Given the description of an element on the screen output the (x, y) to click on. 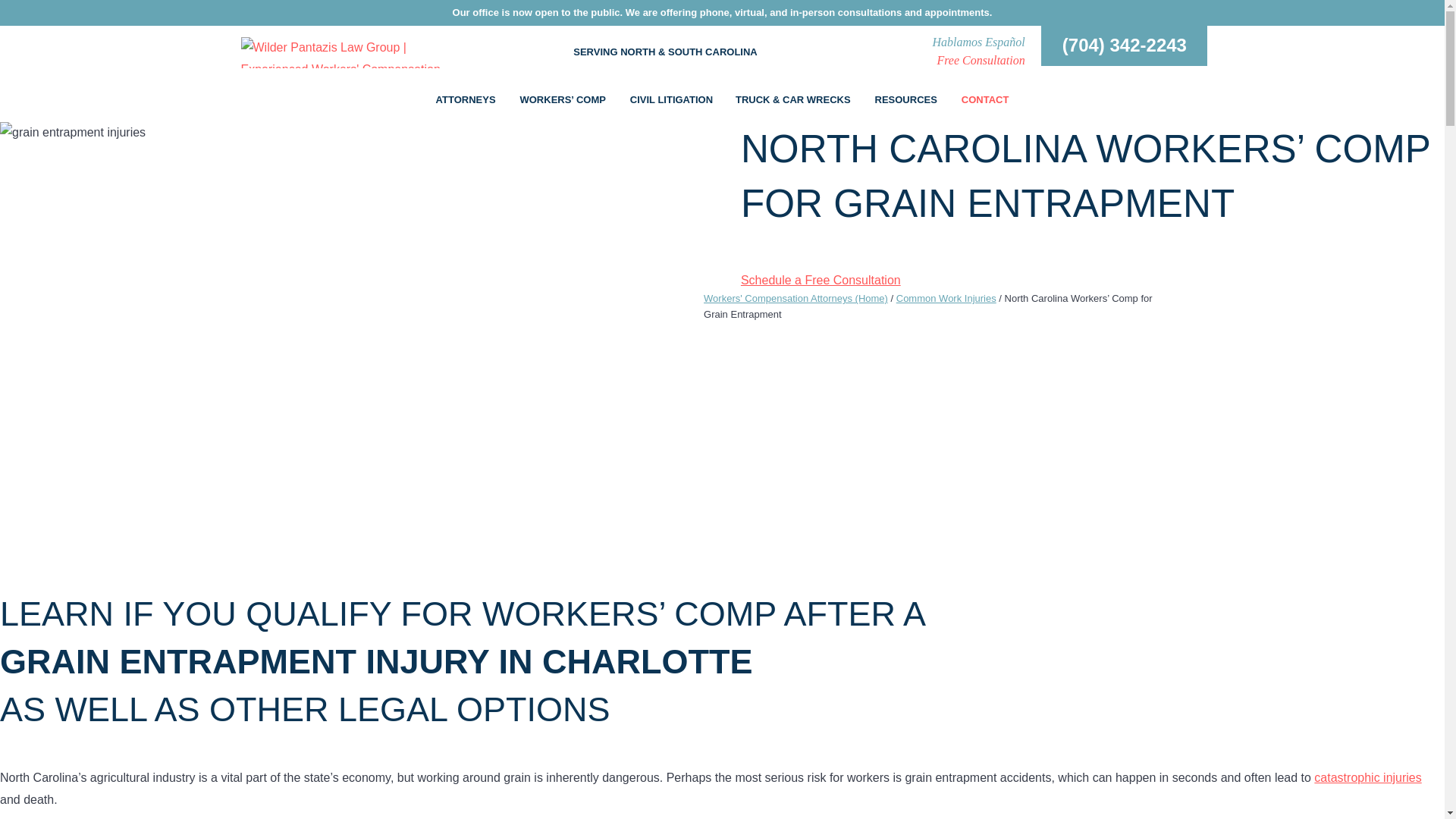
Common Work Injuries (945, 297)
ATTORNEYS (466, 101)
catastrophic injuries (1367, 777)
Schedule a Free Consultation (821, 279)
CONTACT (985, 101)
RESOURCES (906, 101)
CIVIL LITIGATION (671, 101)
